Given the description of an element on the screen output the (x, y) to click on. 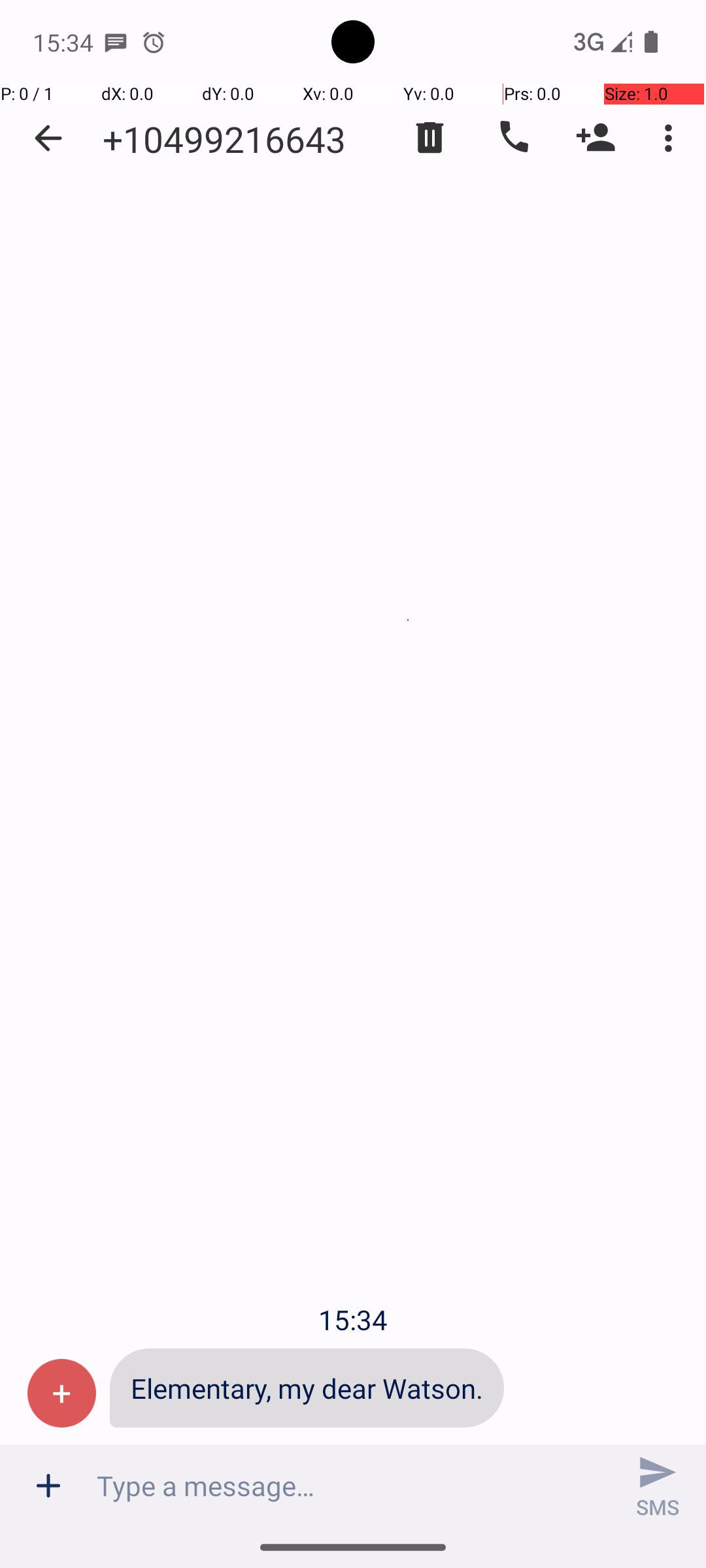
+10499216643 Element type: android.widget.TextView (223, 138)
